Given the description of an element on the screen output the (x, y) to click on. 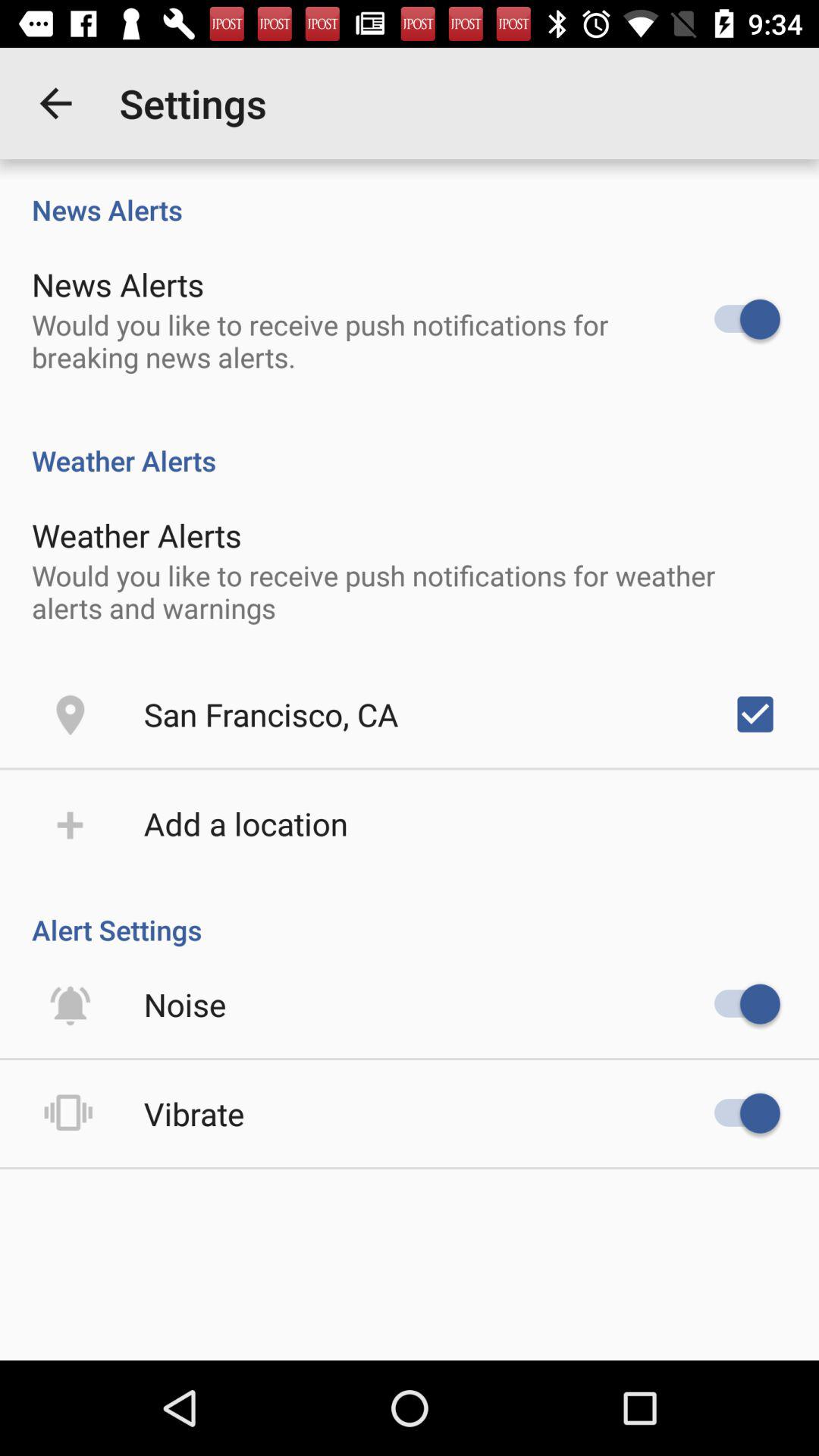
open item below noise icon (193, 1113)
